Given the description of an element on the screen output the (x, y) to click on. 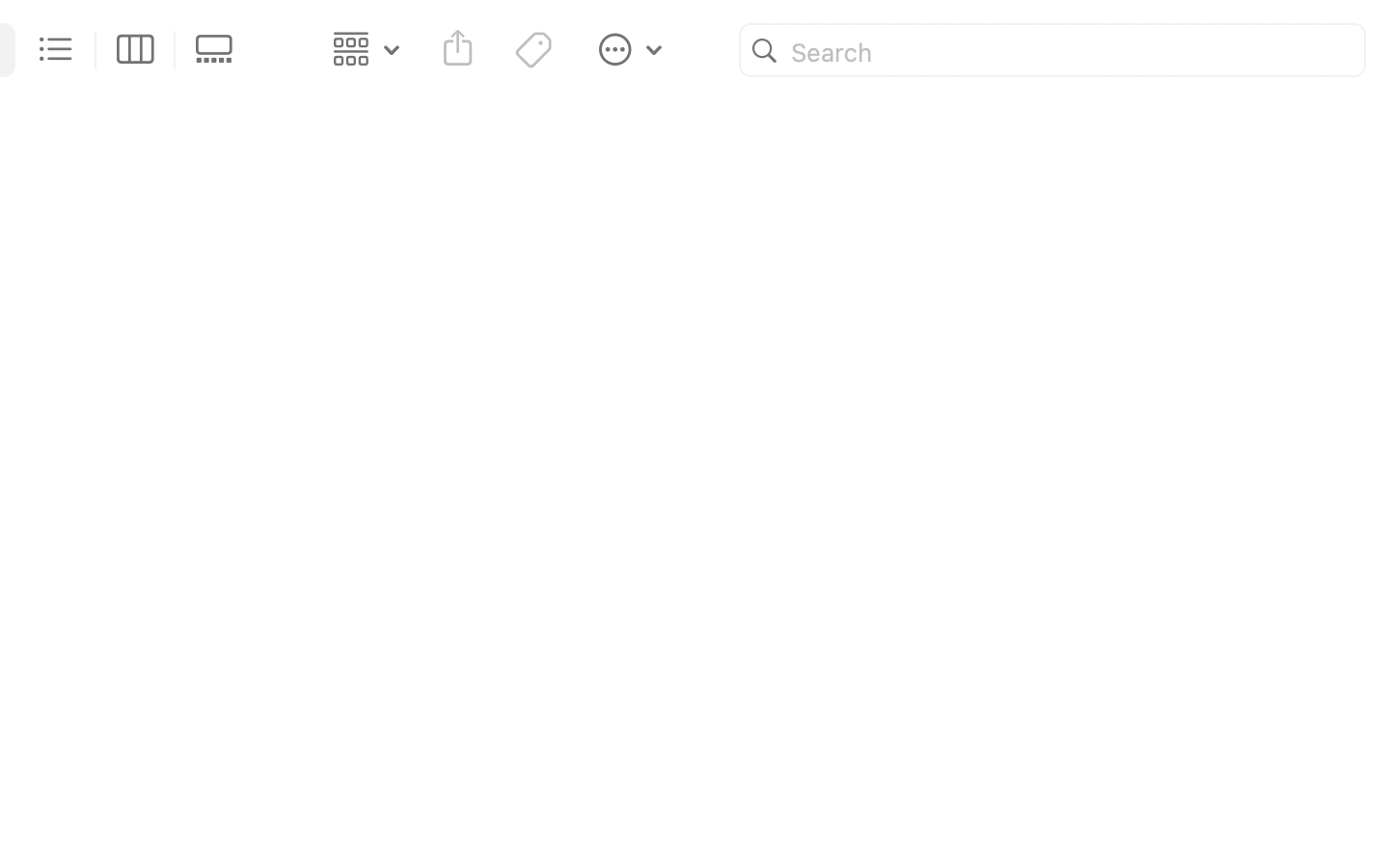
0 Element type: AXRadioButton (219, 49)
